Given the description of an element on the screen output the (x, y) to click on. 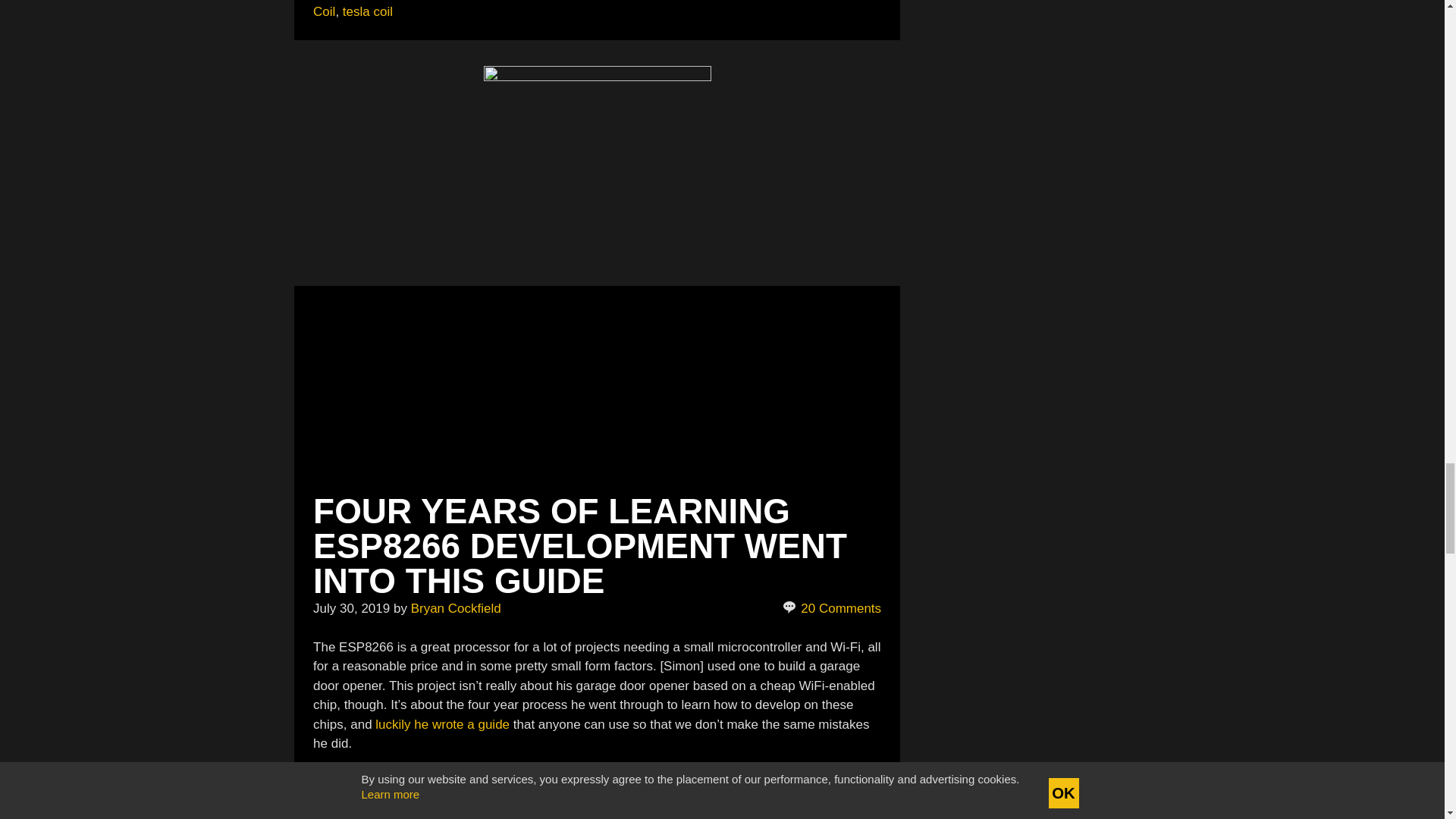
July 30, 2019 - 7:00 pm (351, 608)
Posts by Bryan Cockfield (455, 608)
